Given the description of an element on the screen output the (x, y) to click on. 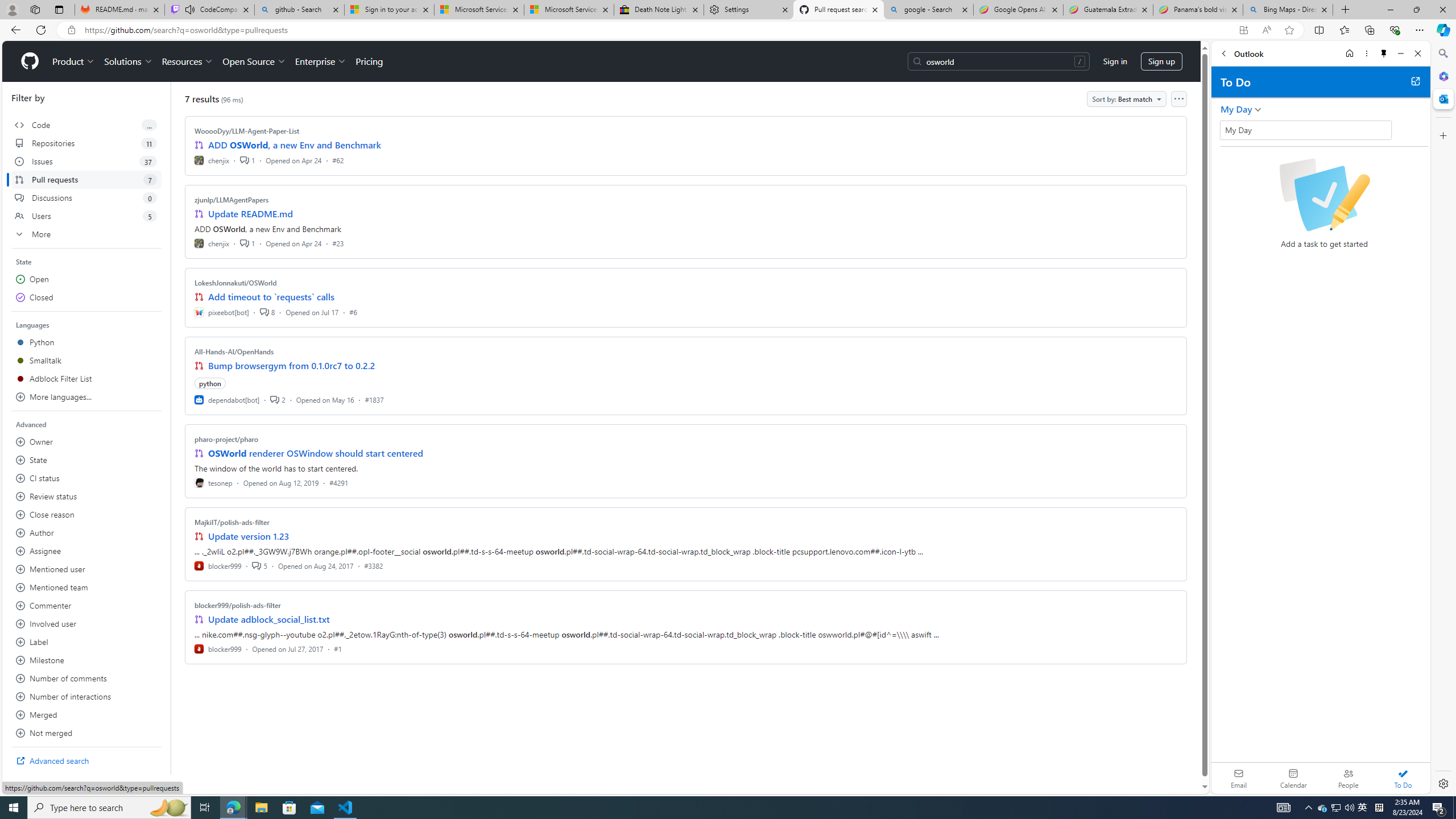
Bump browsergym from 0.1.0rc7 to 0.2.2 (291, 365)
Class: wL_Ii70haOUOvHnsRwbD (1305, 130)
5 (259, 565)
More languages... (86, 397)
Home (1348, 53)
Sign up (1161, 61)
Enterprise (319, 60)
